Given the description of an element on the screen output the (x, y) to click on. 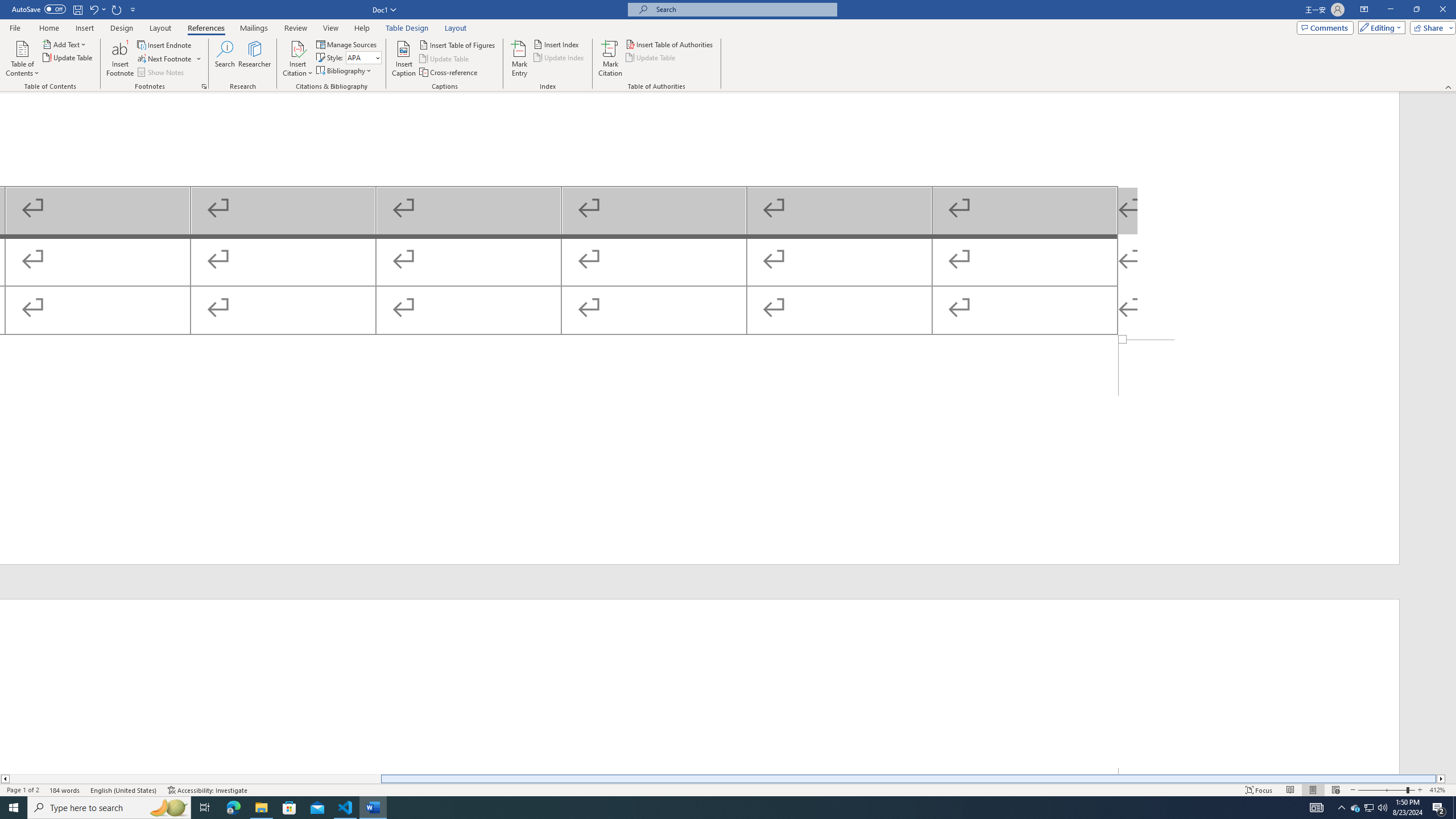
Undo Outline Move Up (96, 9)
Next Footnote (165, 58)
Footnote and Endnote Dialog... (203, 85)
Repeat Doc Close (117, 9)
Update Index (559, 56)
